Given the description of an element on the screen output the (x, y) to click on. 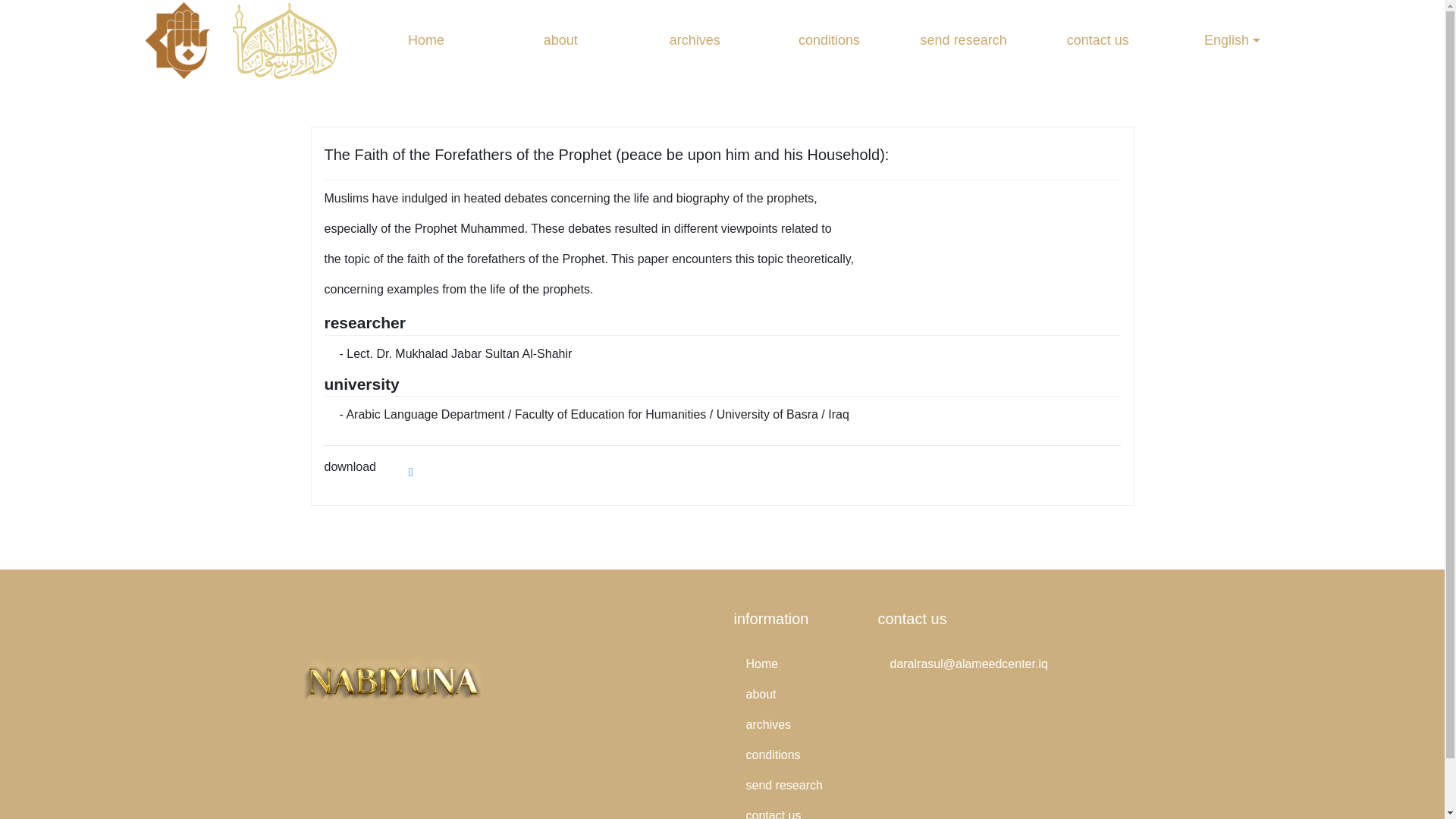
contact us (1097, 40)
Home (426, 40)
conditions (828, 40)
archives (794, 725)
send research (963, 40)
English (1231, 40)
contact us (794, 809)
conditions (794, 755)
send research (794, 785)
archives (694, 40)
